Given the description of an element on the screen output the (x, y) to click on. 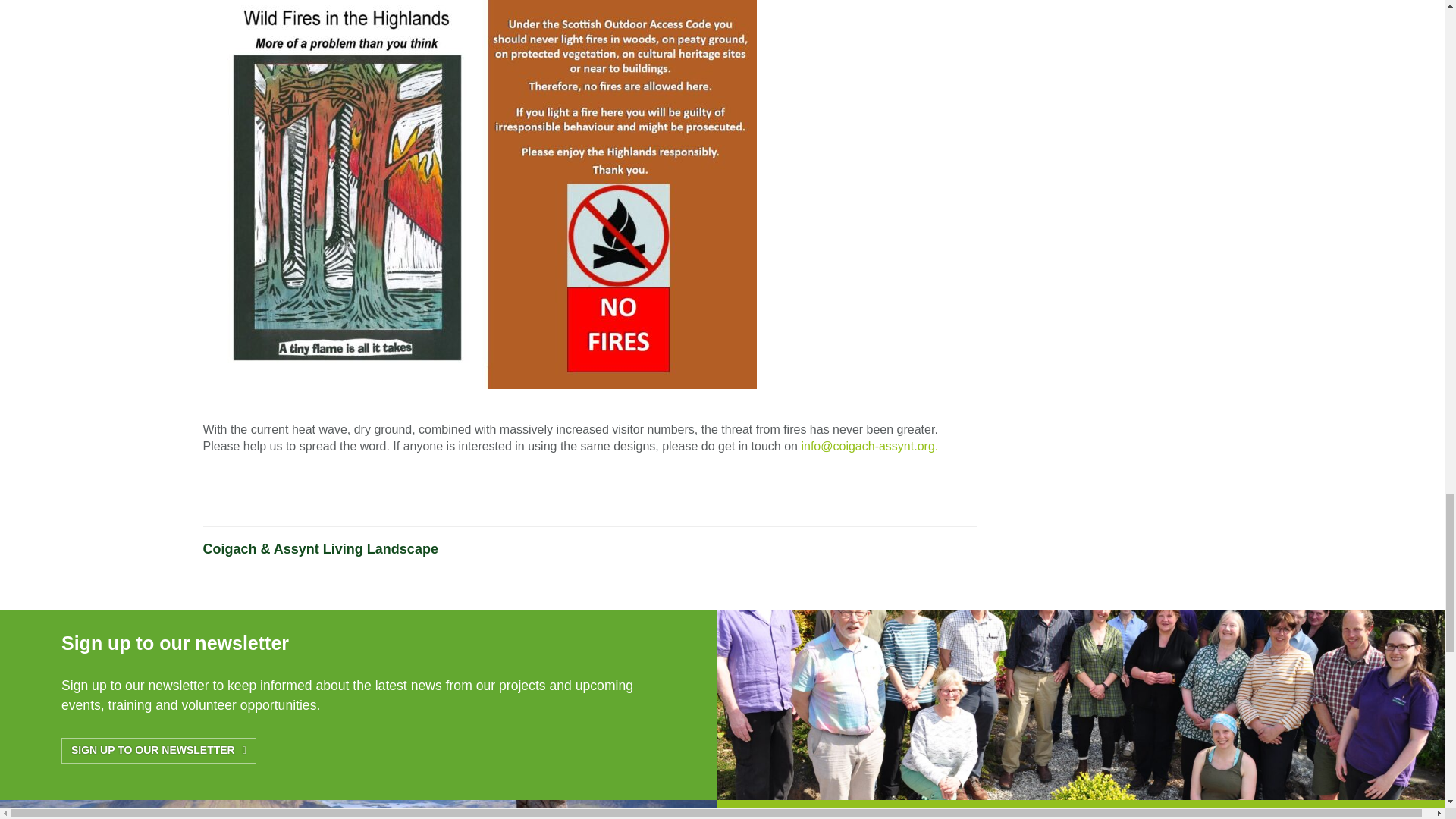
SIGN UP TO OUR NEWSLETTER (158, 750)
